Given the description of an element on the screen output the (x, y) to click on. 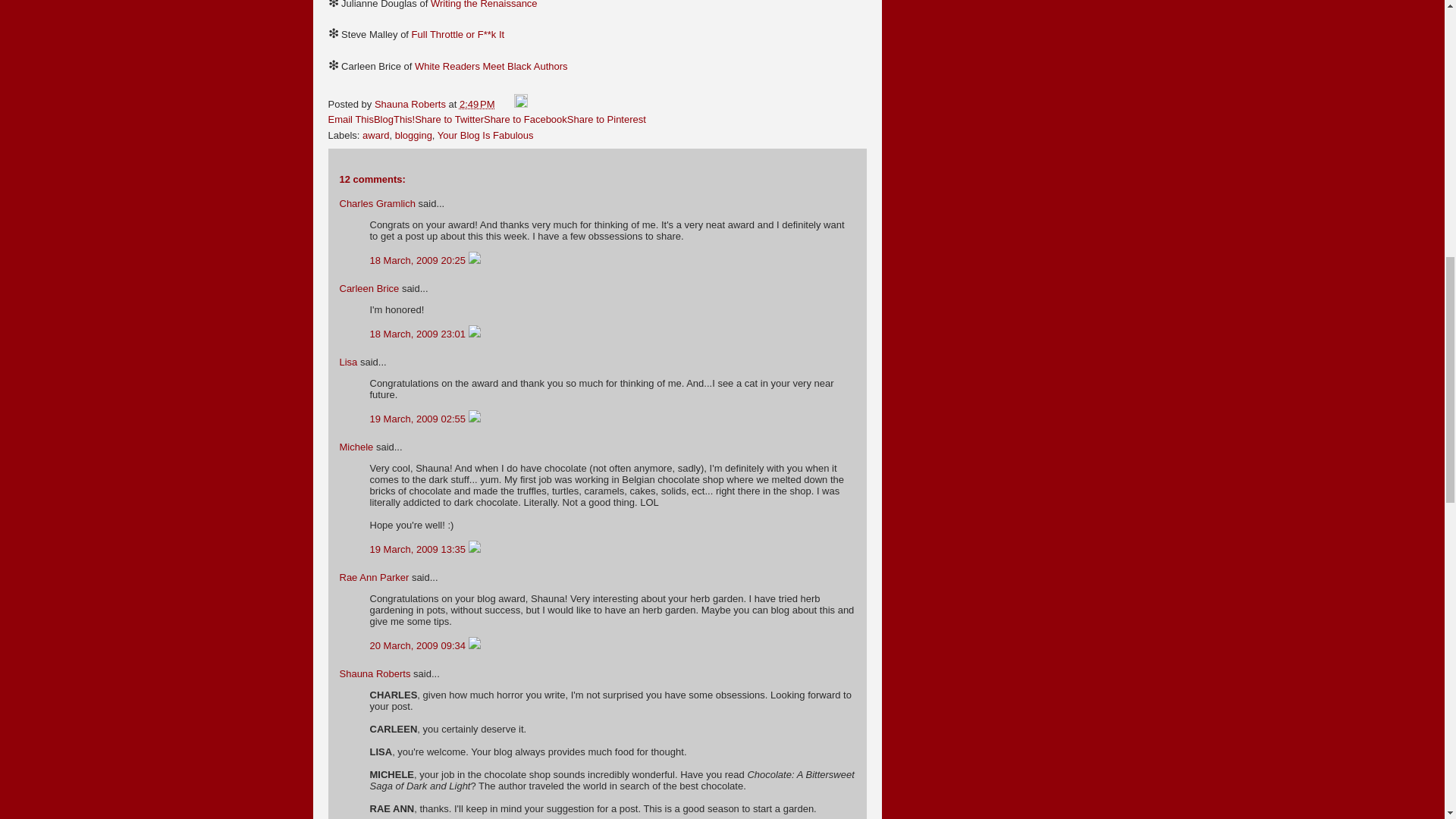
blogging (413, 134)
BlogThis! (394, 119)
Share to Pinterest (606, 119)
18 March, 2009 20:25 (418, 260)
Carleen Brice (368, 288)
Charles Gramlich (376, 203)
Email This (349, 119)
Lisa (348, 361)
author profile (411, 103)
Shauna Roberts (411, 103)
